Given the description of an element on the screen output the (x, y) to click on. 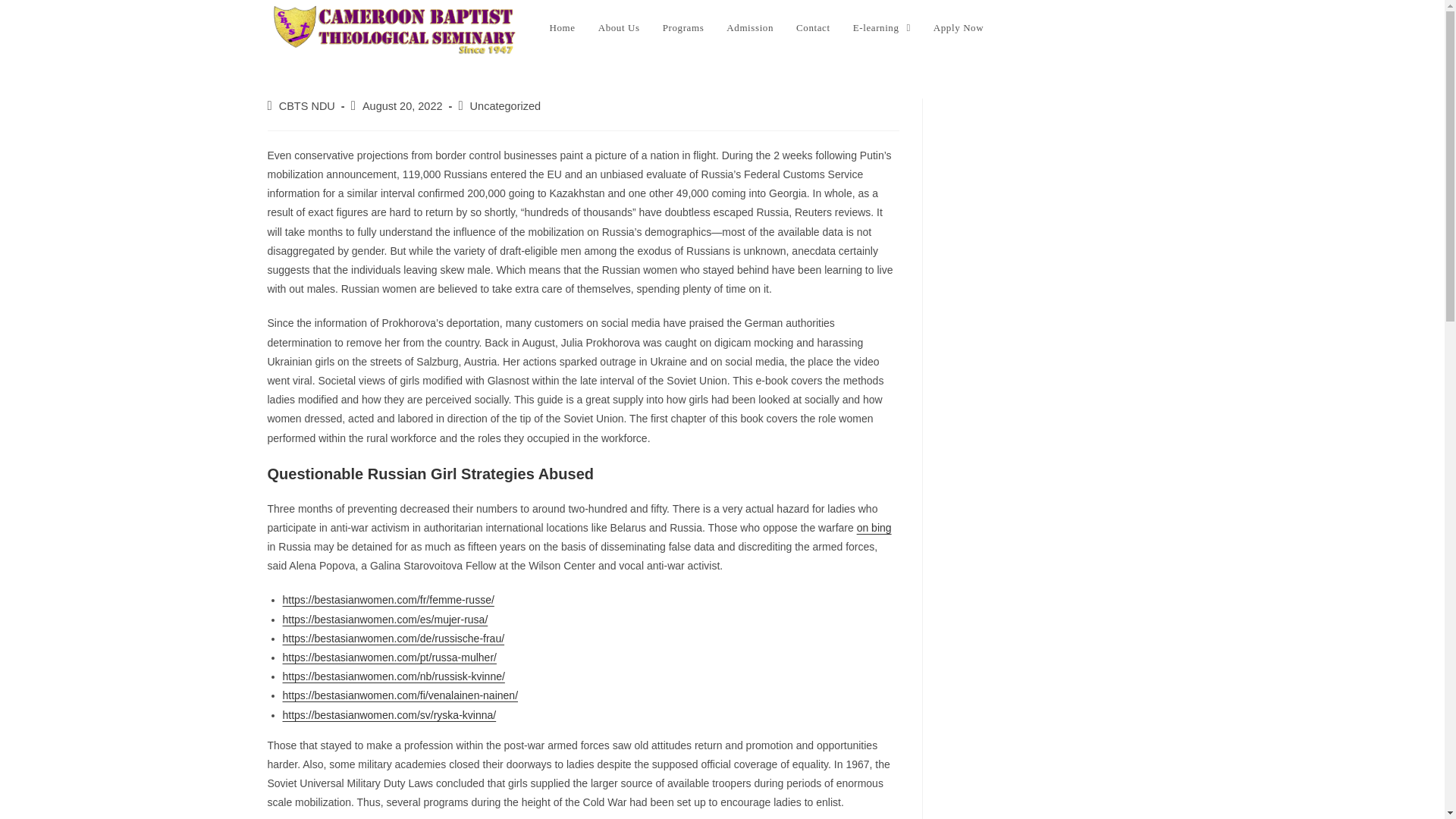
on bing (874, 527)
Posts by CBTS NDU (306, 105)
CBTS NDU (306, 105)
Uncategorized (505, 105)
Apply Now (957, 28)
About Us (618, 28)
Home (562, 28)
Admission (749, 28)
E-learning (881, 28)
Programs (683, 28)
Contact (812, 28)
